Given the description of an element on the screen output the (x, y) to click on. 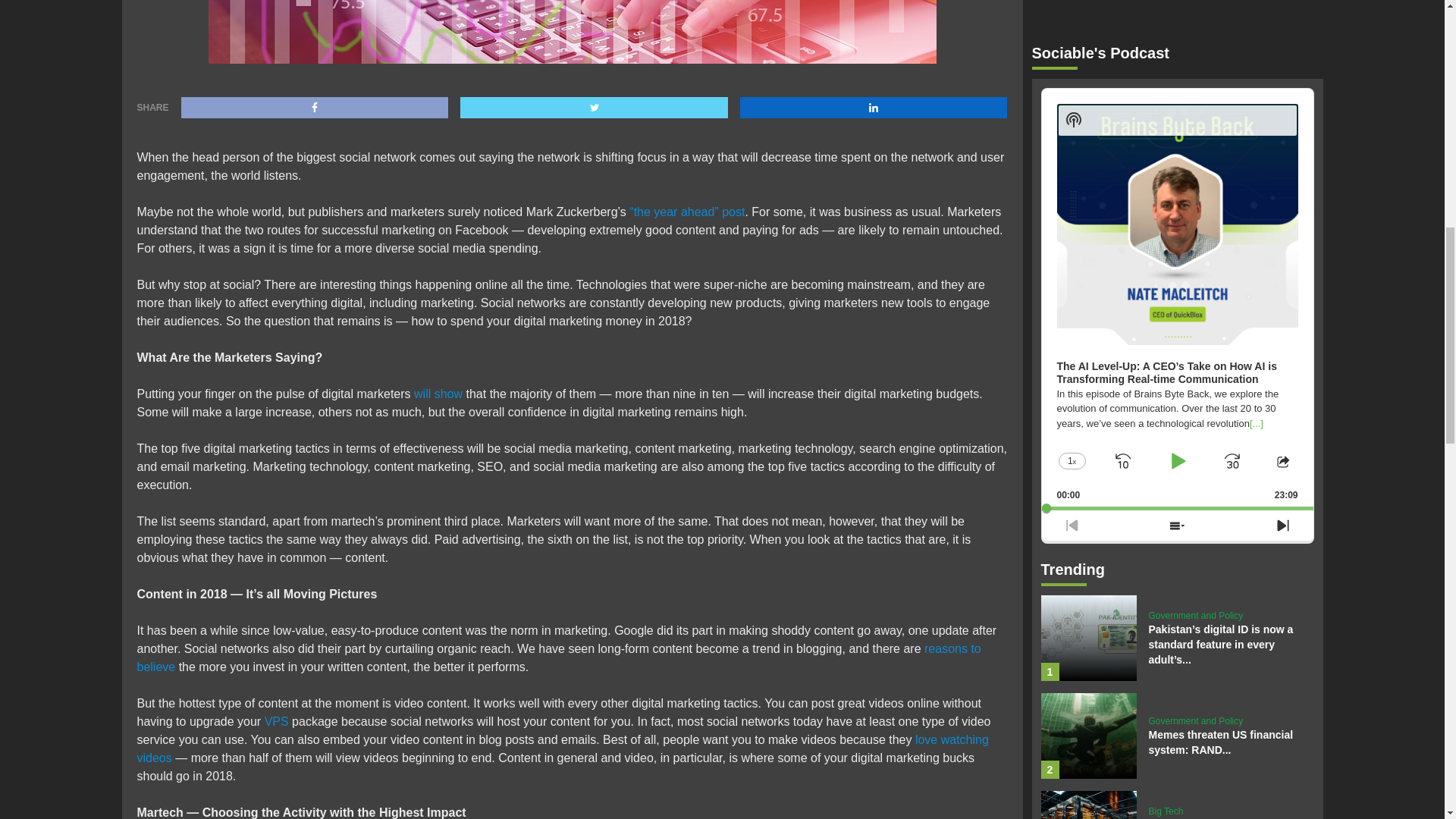
reasons to believe (557, 657)
VPS (276, 721)
love watching videos (562, 748)
will show (438, 393)
